Given the description of an element on the screen output the (x, y) to click on. 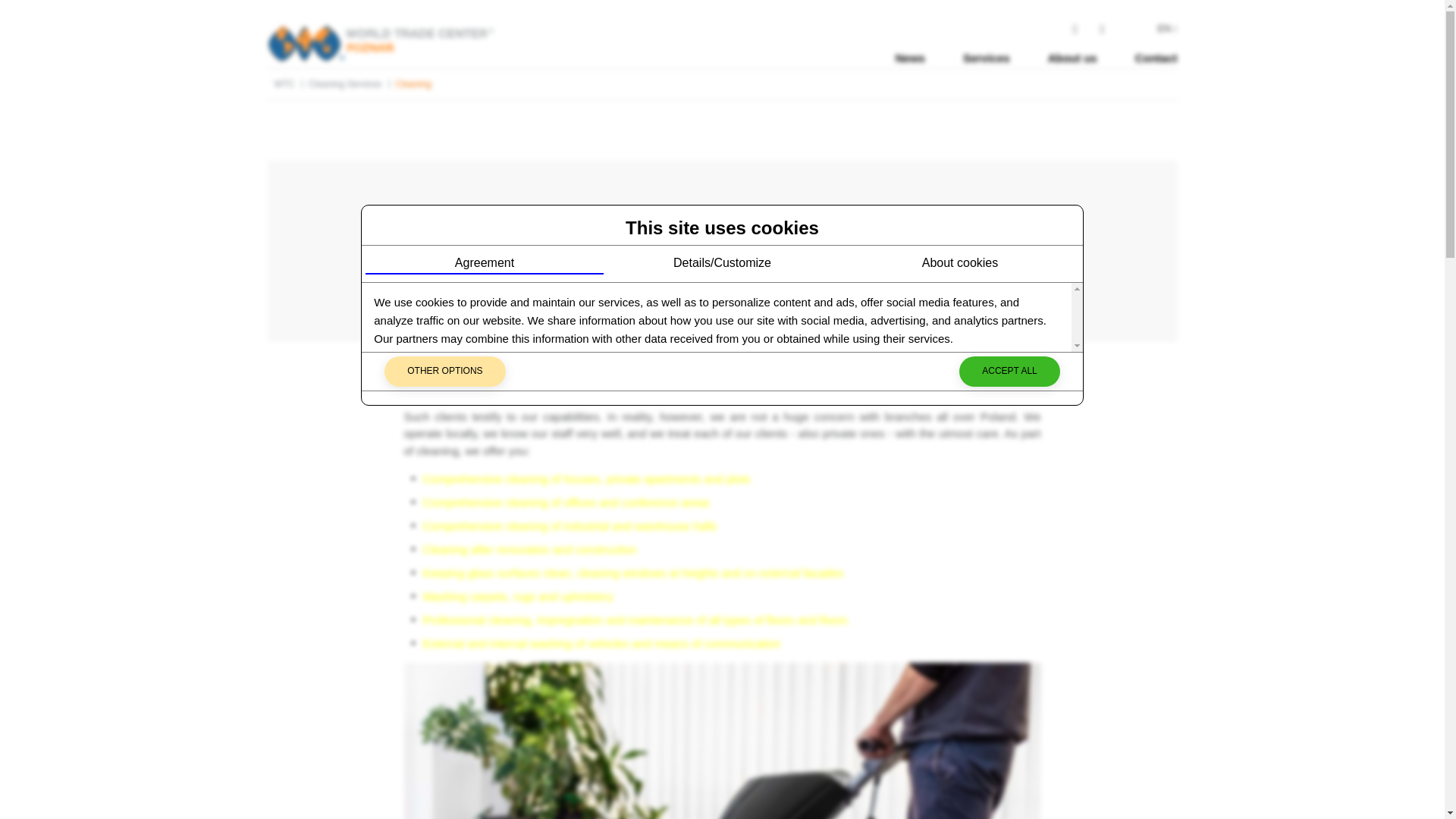
Services (986, 58)
Contact (1156, 58)
News (909, 58)
About us (1072, 58)
EN (1166, 27)
